Given the description of an element on the screen output the (x, y) to click on. 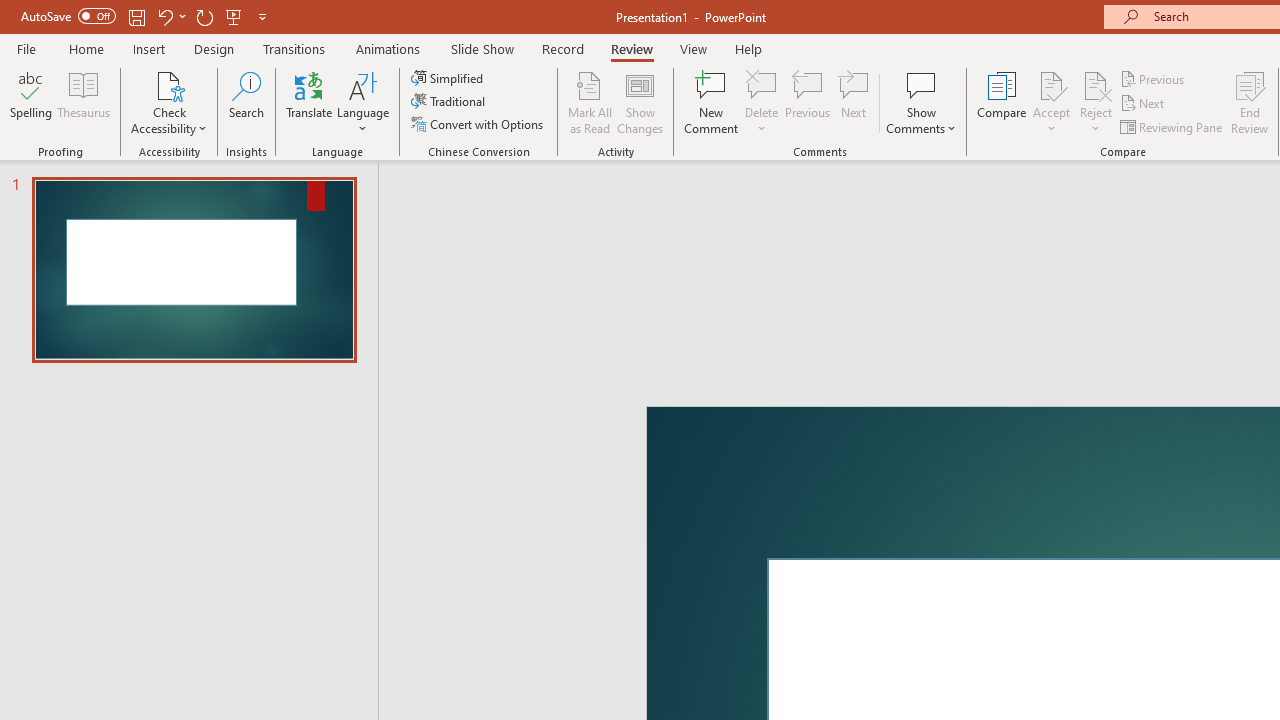
Traditional (449, 101)
Compare (1002, 102)
Reject Change (1096, 84)
Previous (1153, 78)
New Comment (711, 102)
Show Comments (921, 102)
